Given the description of an element on the screen output the (x, y) to click on. 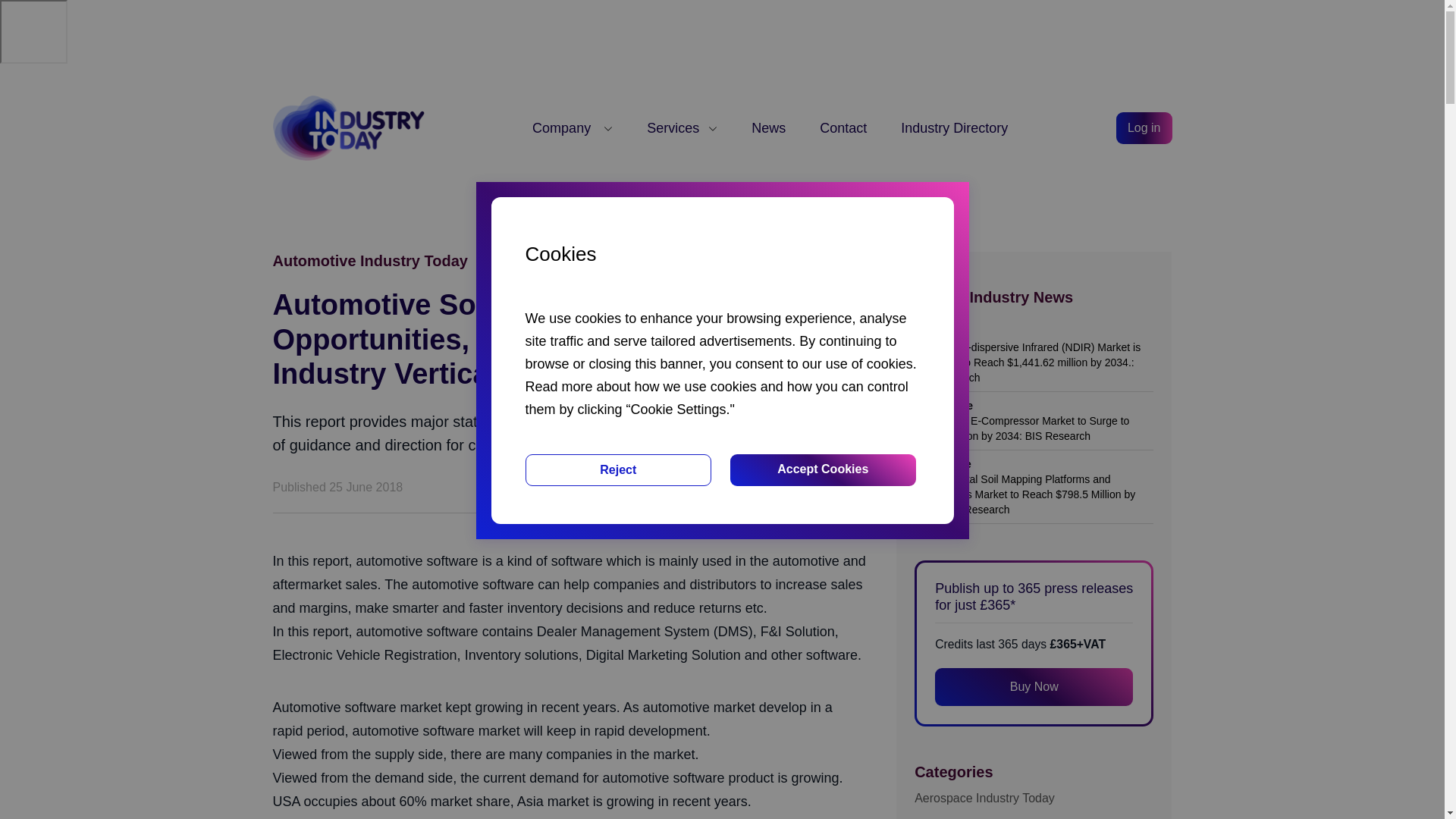
Agriculture Industry Today (1033, 817)
Contact (842, 127)
Buy Now (1033, 686)
Log in (1144, 128)
Aerospace Industry Today (1033, 798)
Company (572, 127)
News (768, 127)
Services (681, 127)
Industry Directory (954, 127)
